Given the description of an element on the screen output the (x, y) to click on. 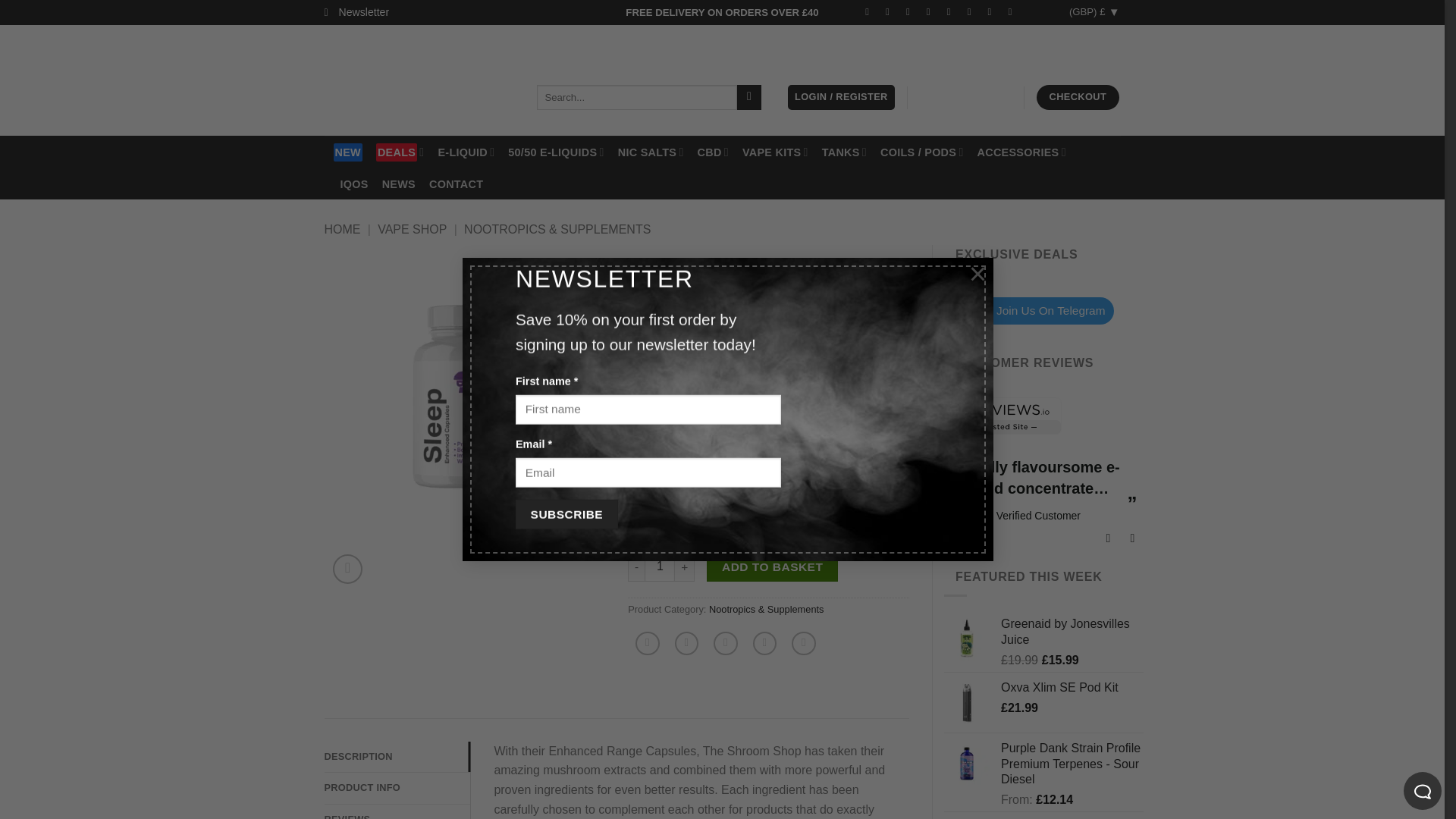
Subscribe (566, 514)
CHECKOUT (1077, 97)
1 (660, 566)
Login (841, 97)
5 Stars (1364, 513)
Newsletter (357, 12)
Search (748, 97)
Subscribe (566, 514)
E-Liquids UK - The UK's Leading Online Vape Shop (418, 80)
5 Stars (1170, 513)
Basket (964, 96)
Newsletter (357, 12)
DEALS (400, 151)
E-LIQUID (466, 151)
5 Stars (975, 513)
